Given the description of an element on the screen output the (x, y) to click on. 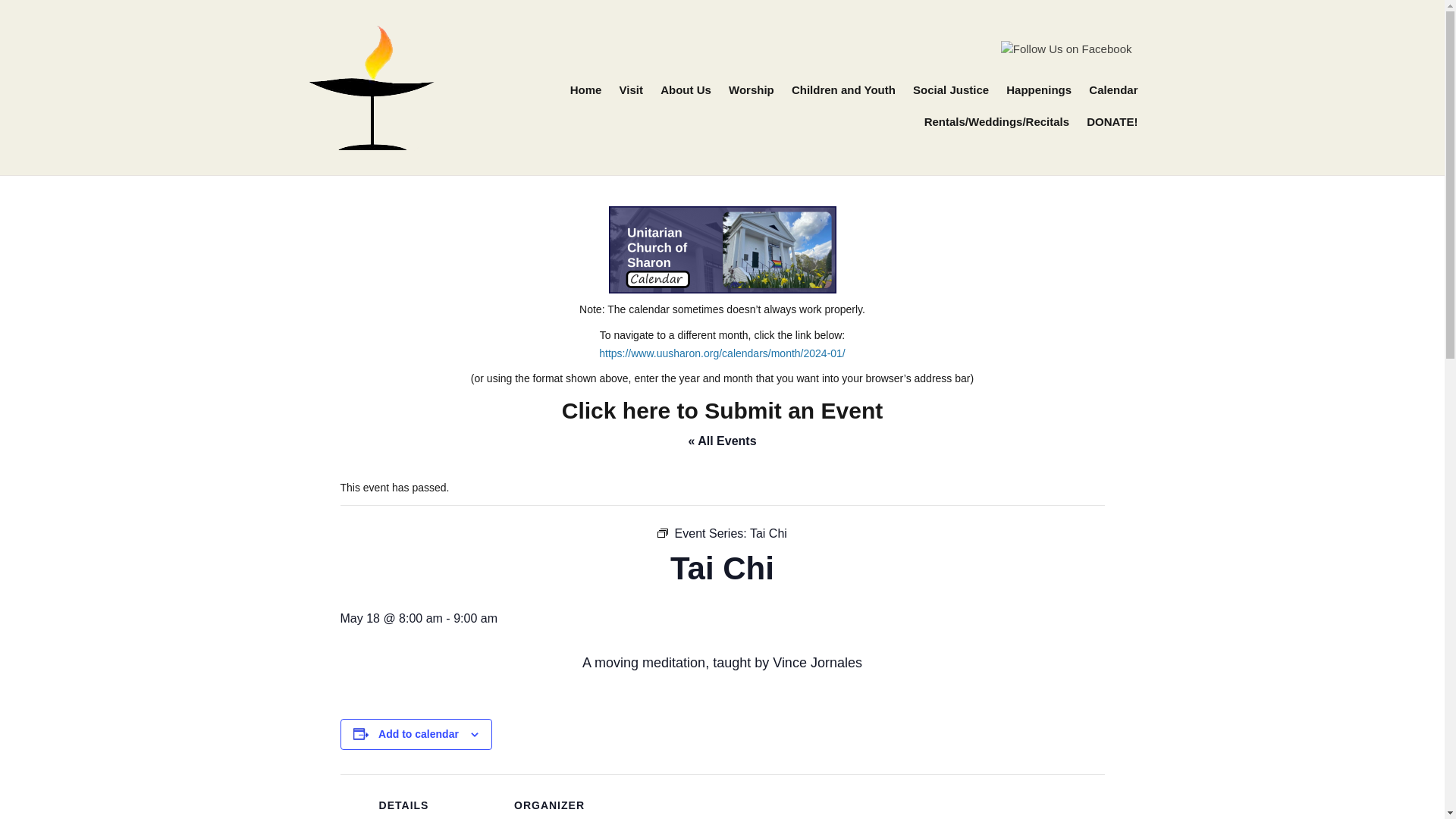
Event Series (663, 532)
Follow Us on Facebook (1066, 48)
